Given the description of an element on the screen output the (x, y) to click on. 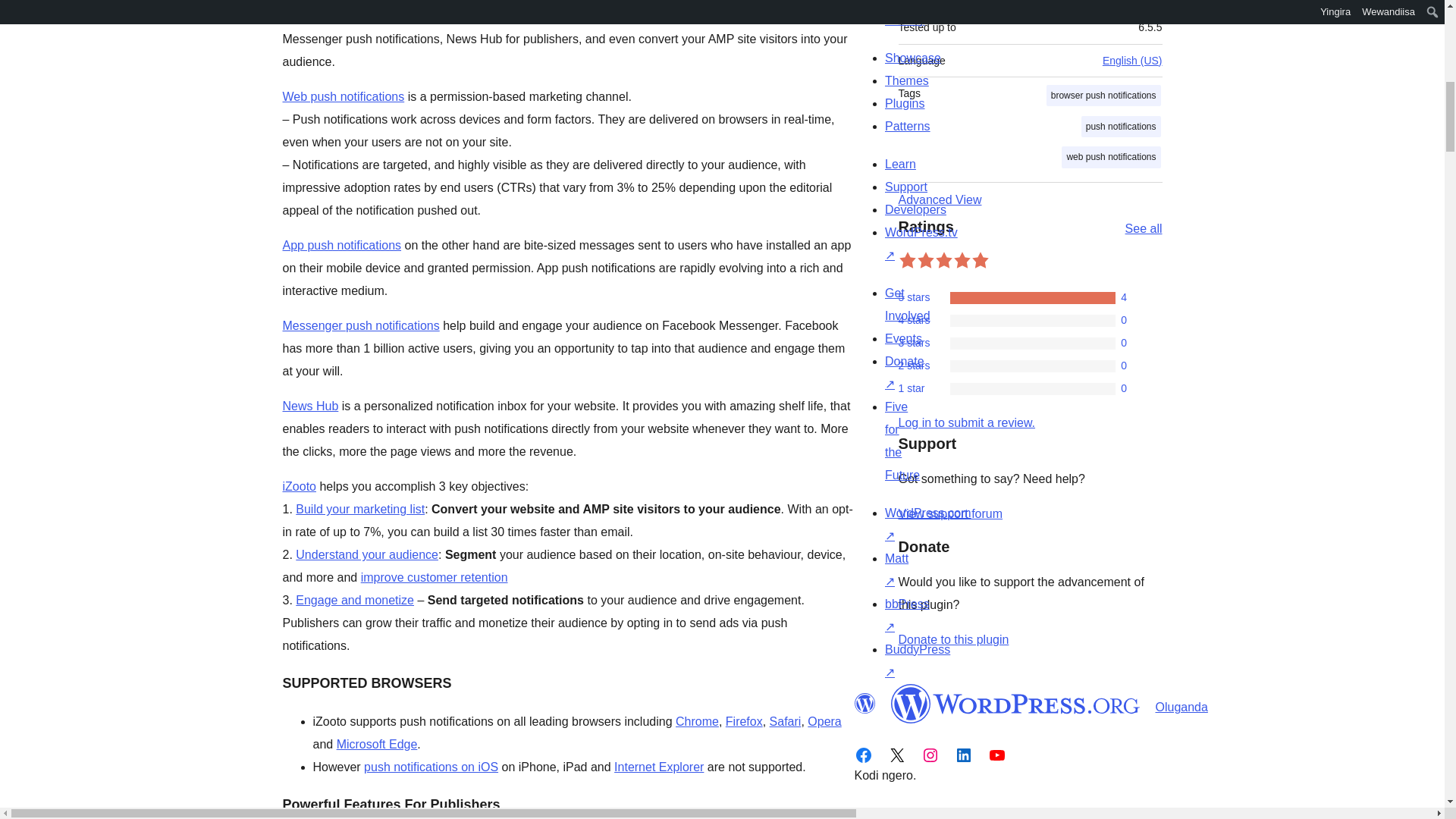
WordPress.org (1014, 703)
Log in to WordPress.org (966, 422)
Understand your audience (366, 554)
App push notifications (341, 245)
News Hub (309, 405)
WordPress.org (864, 703)
Build your marketing list (360, 508)
Engage and monetize (354, 599)
iZooto (298, 486)
improve customer retention (434, 576)
Web push notifications (343, 96)
Messenger push notifications (360, 325)
